Given the description of an element on the screen output the (x, y) to click on. 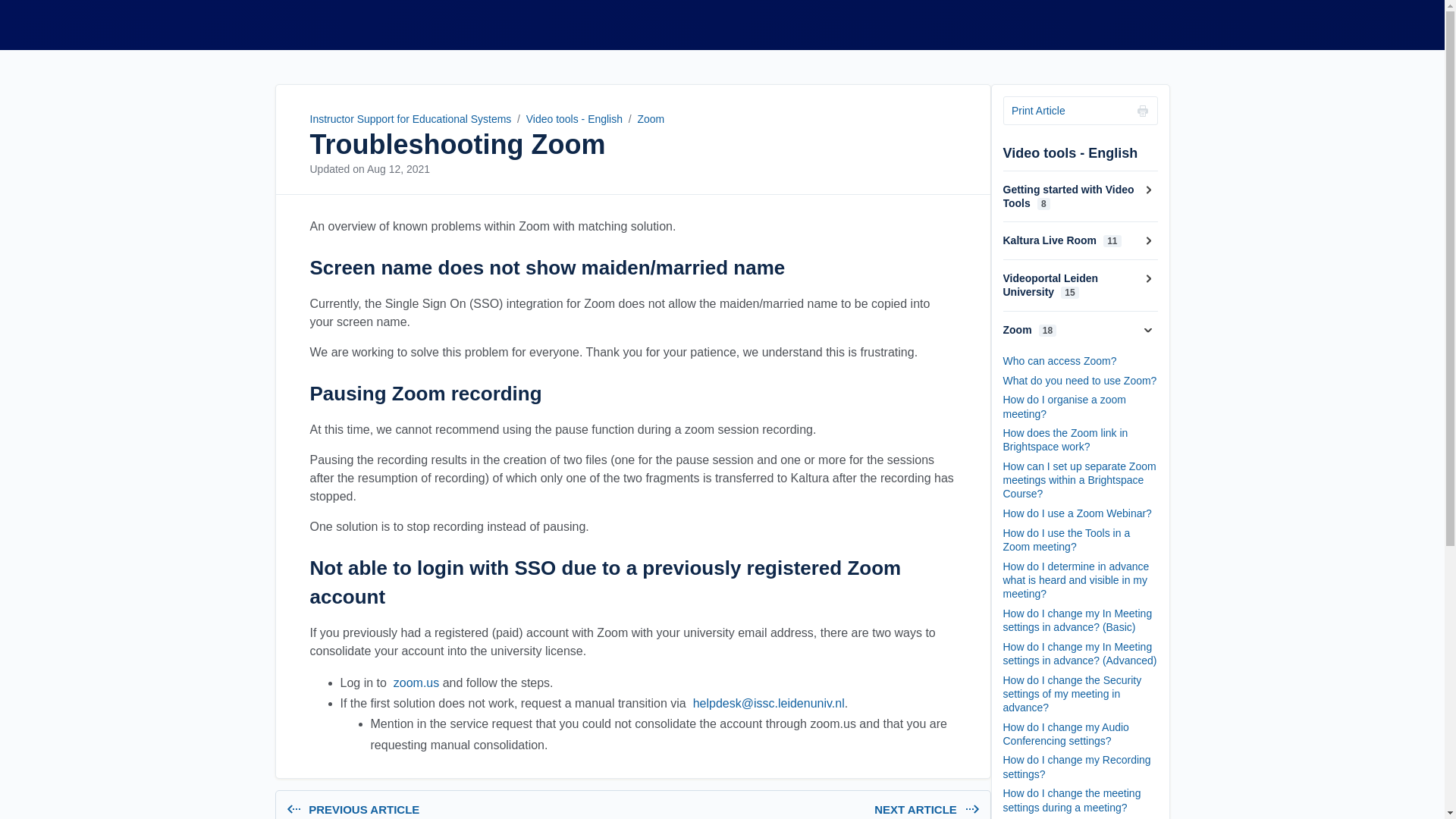
Print Article (1080, 110)
Instructor Support for Educational Systems (409, 119)
Video tools - English (574, 119)
Other Meeting Settings (456, 810)
Instructor Support for Educational Systems (397, 168)
 zoom.us (285, 24)
Instructor Support for Educational Systems (414, 682)
Step-by-step plan: Zoom (808, 810)
Zoom (285, 24)
